Given the description of an element on the screen output the (x, y) to click on. 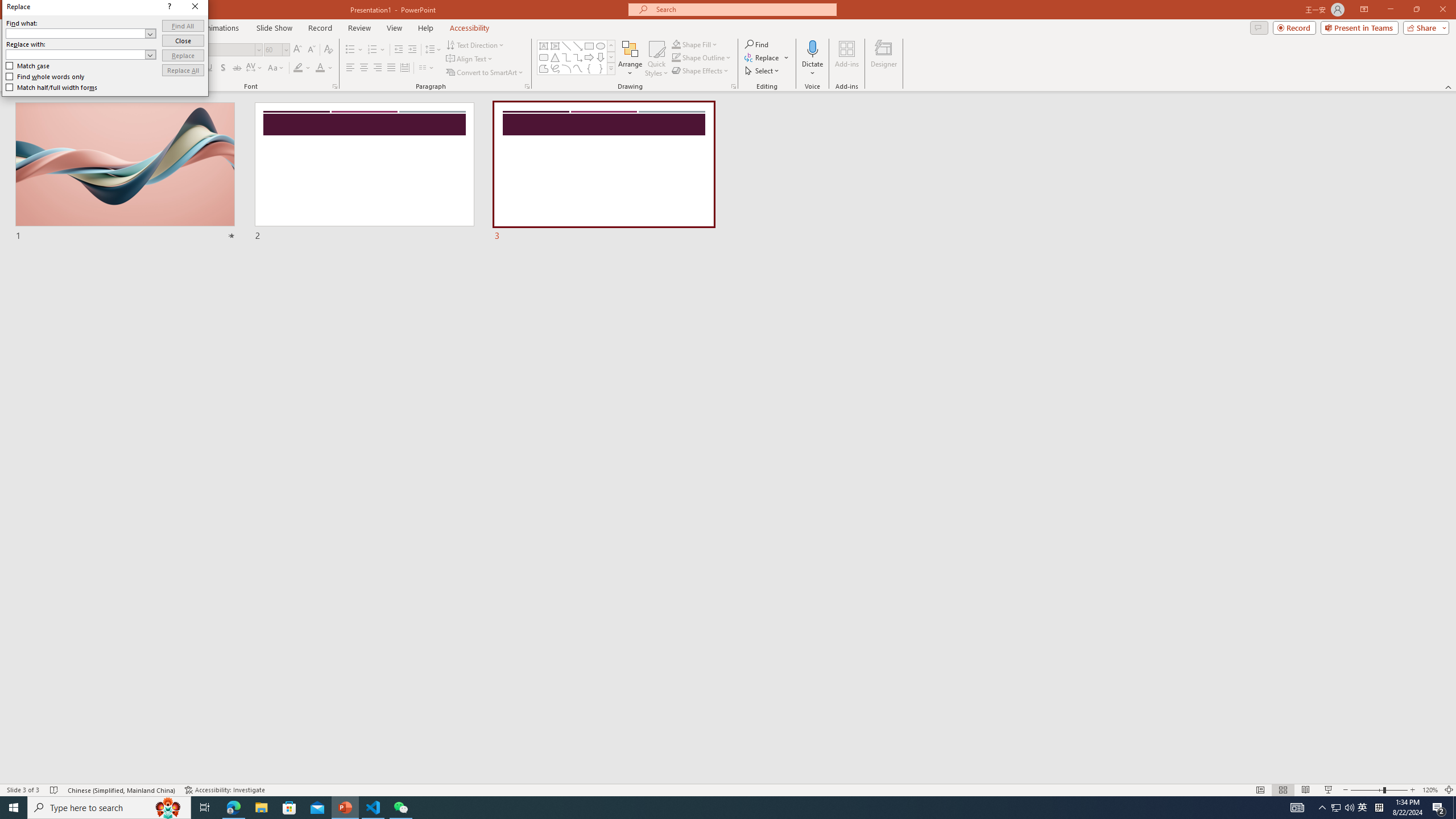
Match half/full width forms (52, 86)
Arc (566, 68)
Arrow: Down (600, 57)
Convert to SmartArt (485, 72)
Shape Effects (700, 69)
Shape Fill (694, 44)
Replace (183, 55)
Replace with (75, 53)
Tray Input Indicator - Chinese (Simplified, China) (1378, 807)
